Given the description of an element on the screen output the (x, y) to click on. 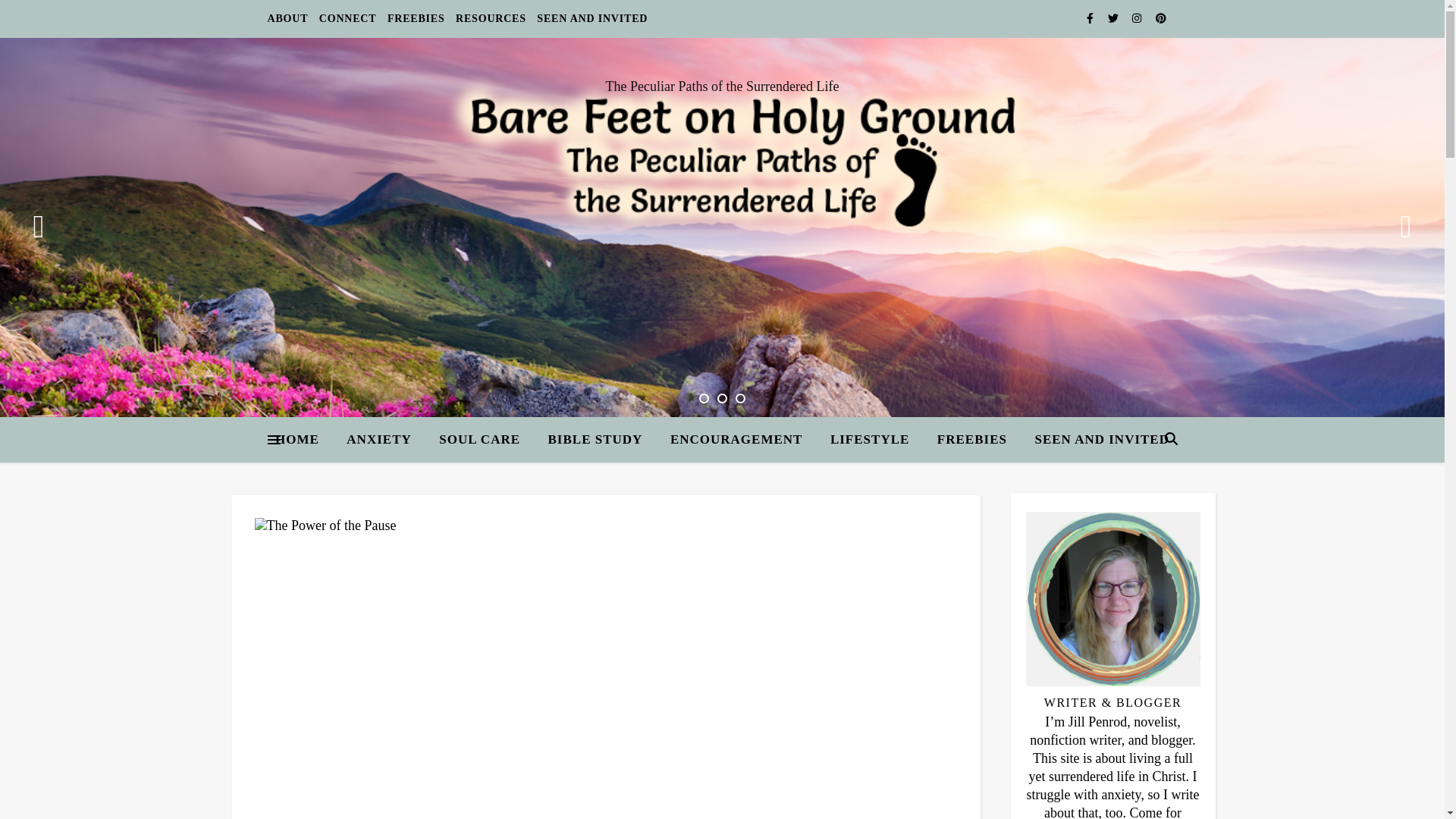
ENCOURAGEMENT (736, 439)
SOUL CARE (479, 439)
HOME (303, 439)
SEEN AND INVITED (589, 18)
CONNECT (347, 18)
SEEN AND INVITED (1095, 439)
FREEBIES (971, 439)
ABOUT (288, 18)
FREEBIES (416, 18)
ANXIETY (378, 439)
